Given the description of an element on the screen output the (x, y) to click on. 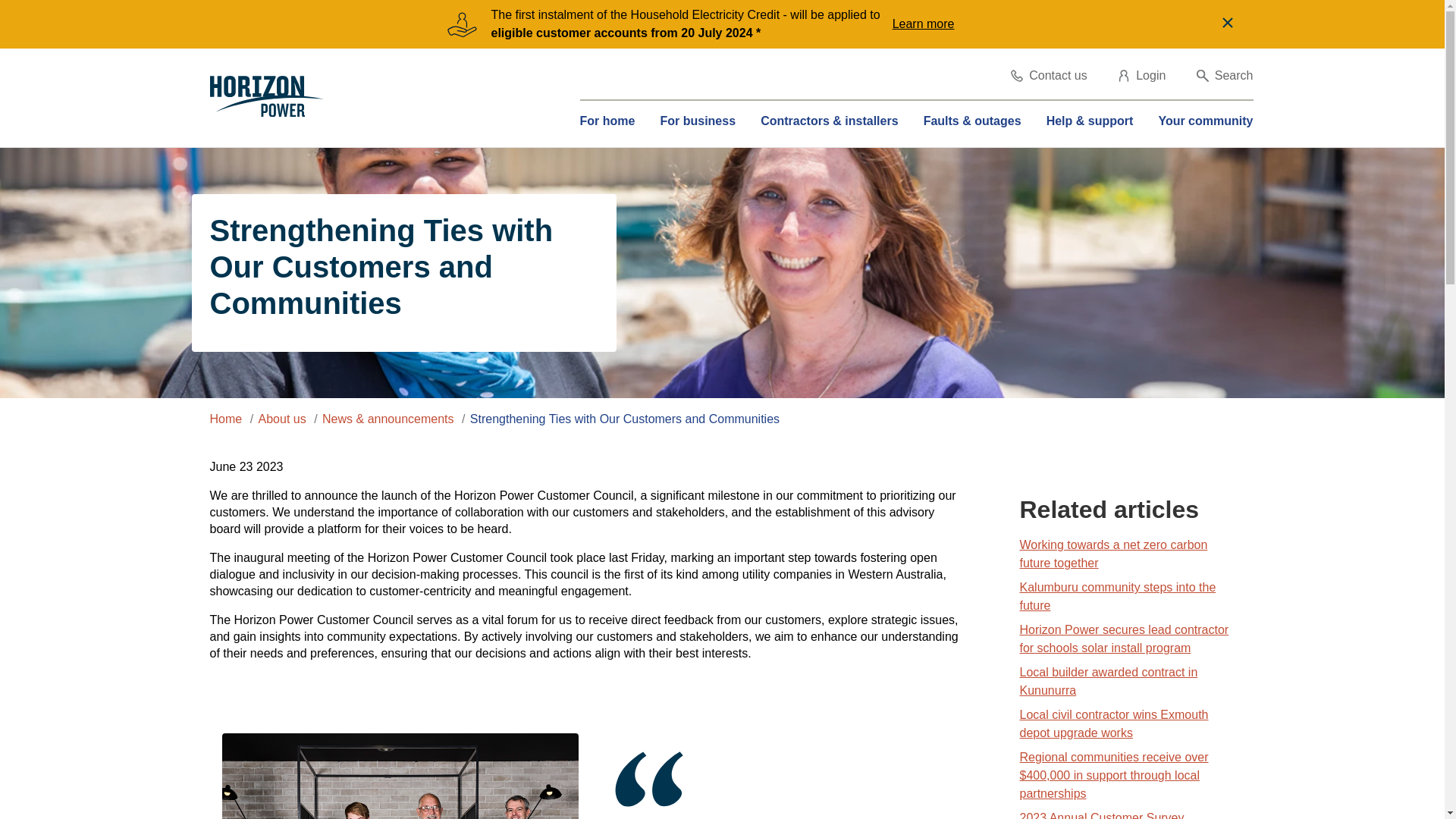
For home (606, 121)
Learn more (926, 24)
Login (1142, 75)
Horizon Power (266, 96)
Search (1224, 75)
Search (1224, 75)
For business (697, 121)
Learn more (926, 24)
Contact us (1048, 75)
Contact us (1048, 75)
Login (1142, 75)
